Given the description of an element on the screen output the (x, y) to click on. 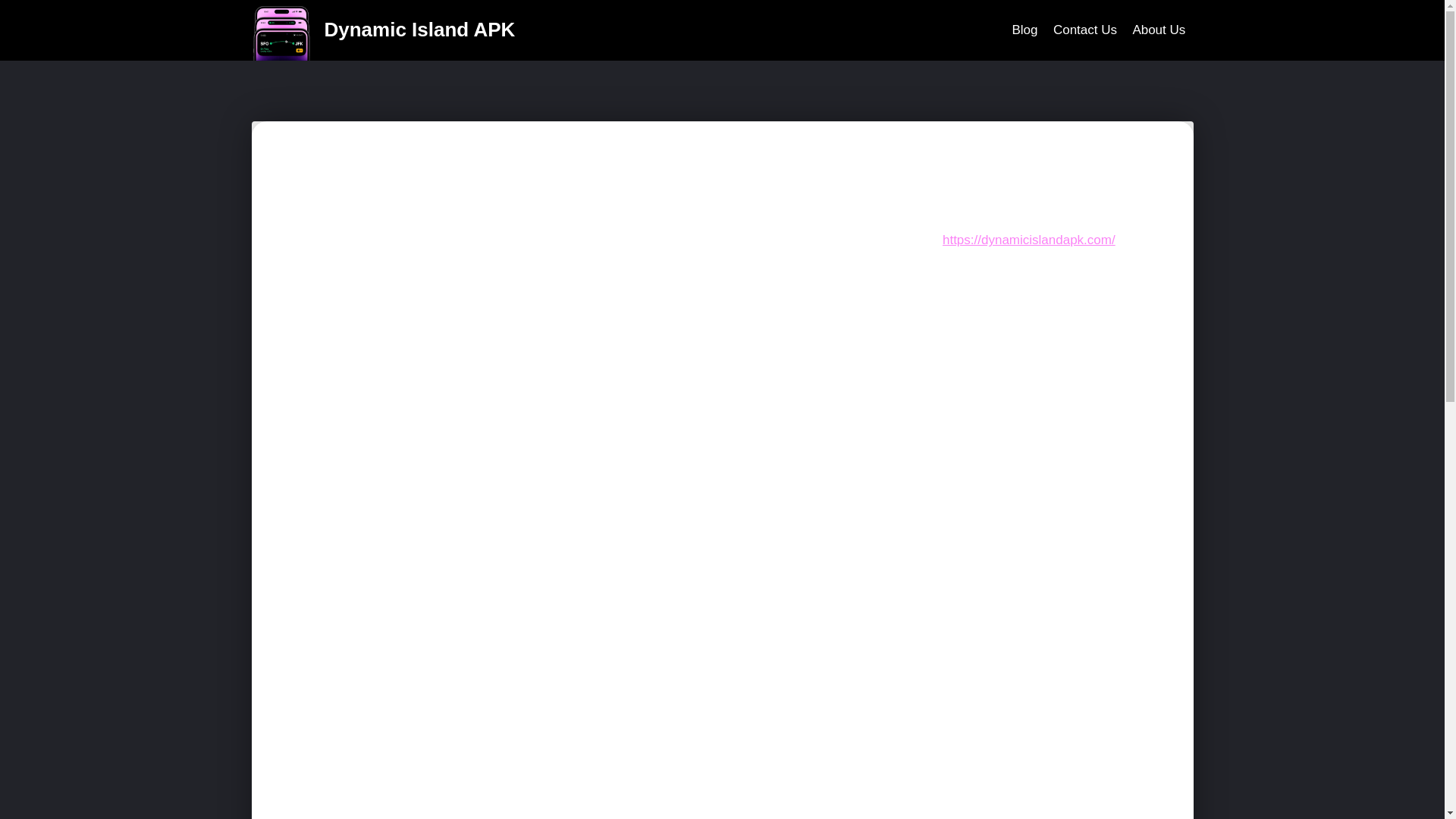
About Us (1158, 30)
Contact Us (1084, 30)
Blog (1024, 30)
Dynamic Island APK (383, 29)
